Given the description of an element on the screen output the (x, y) to click on. 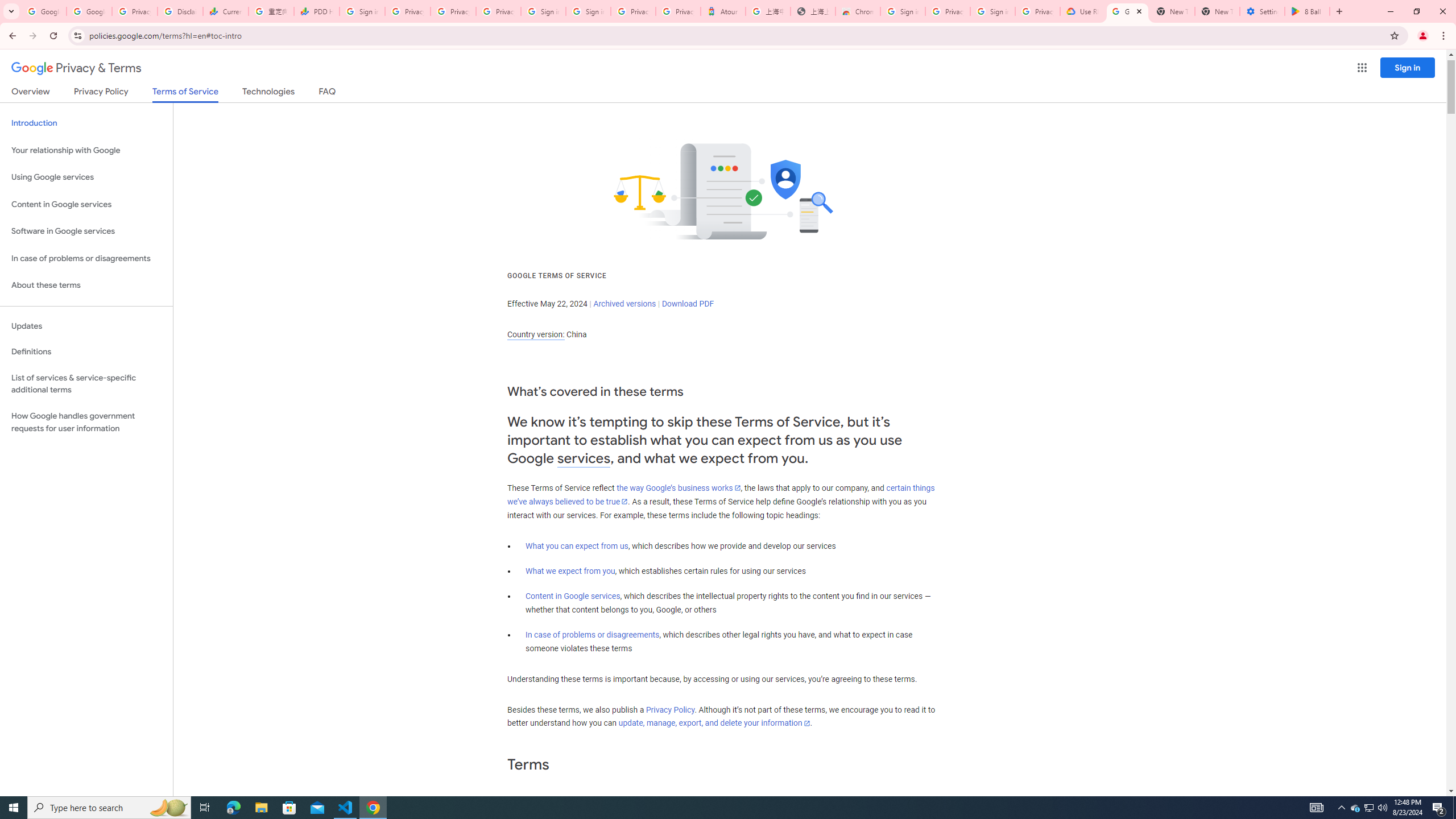
2404.05719v1.pdf (1405, 254)
2304.09121v3.pdf (1275, 26)
UGround_paper.pdf (686, 26)
Typora (163, 254)
Blender 4.1 (163, 178)
